Given the description of an element on the screen output the (x, y) to click on. 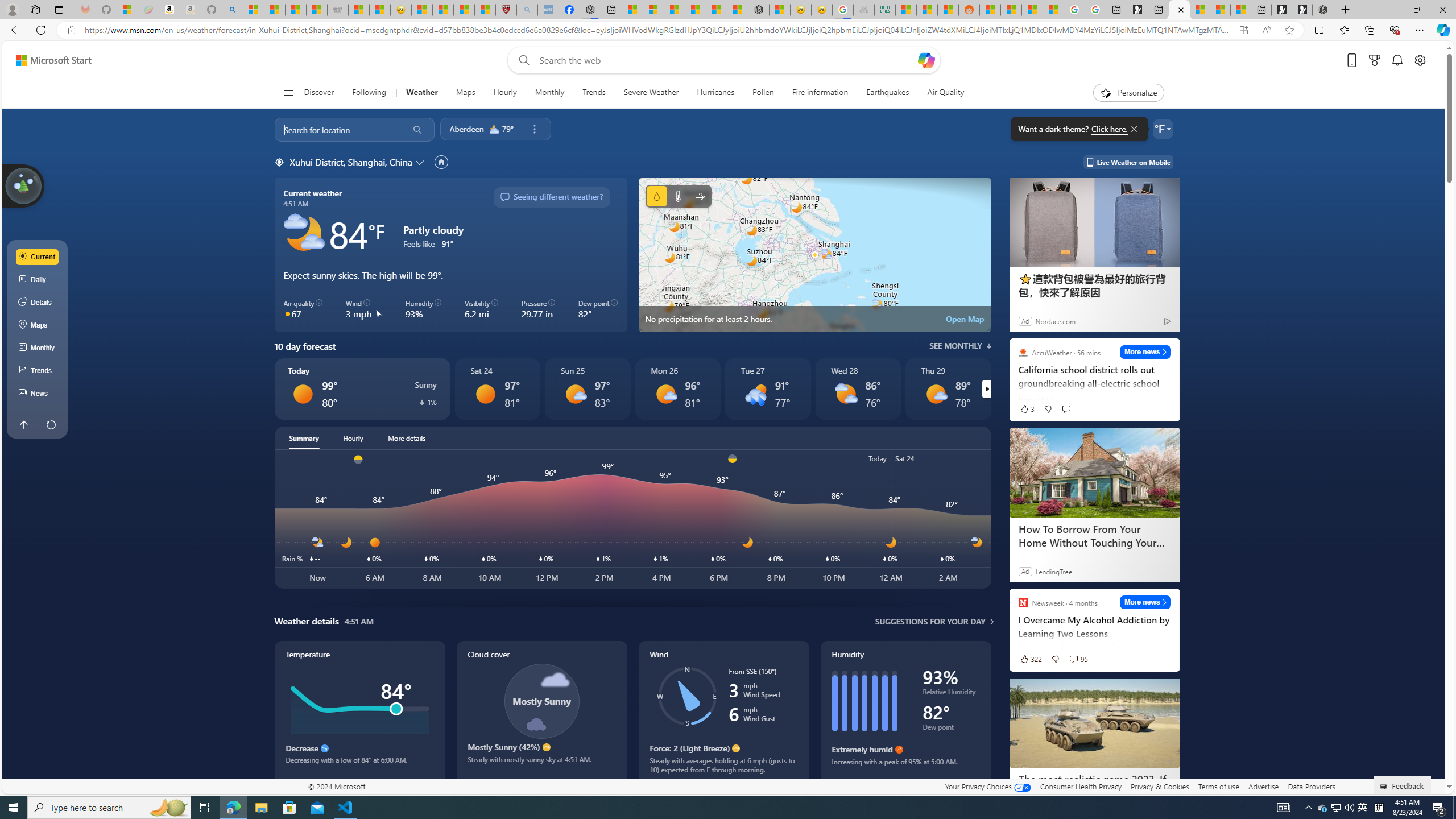
Sunny (484, 393)
Your Privacy Choices (987, 785)
Severe Weather (650, 92)
Class: button-glyph (287, 92)
Hurricanes (715, 92)
To get missing image descriptions, open the context menu. (1105, 92)
Visibility 6.2 mi (480, 309)
Class: aqiColorCycle-DS-EntryPoint1-1 (287, 313)
Monthly (549, 92)
Advertise (1263, 785)
